Given the description of an element on the screen output the (x, y) to click on. 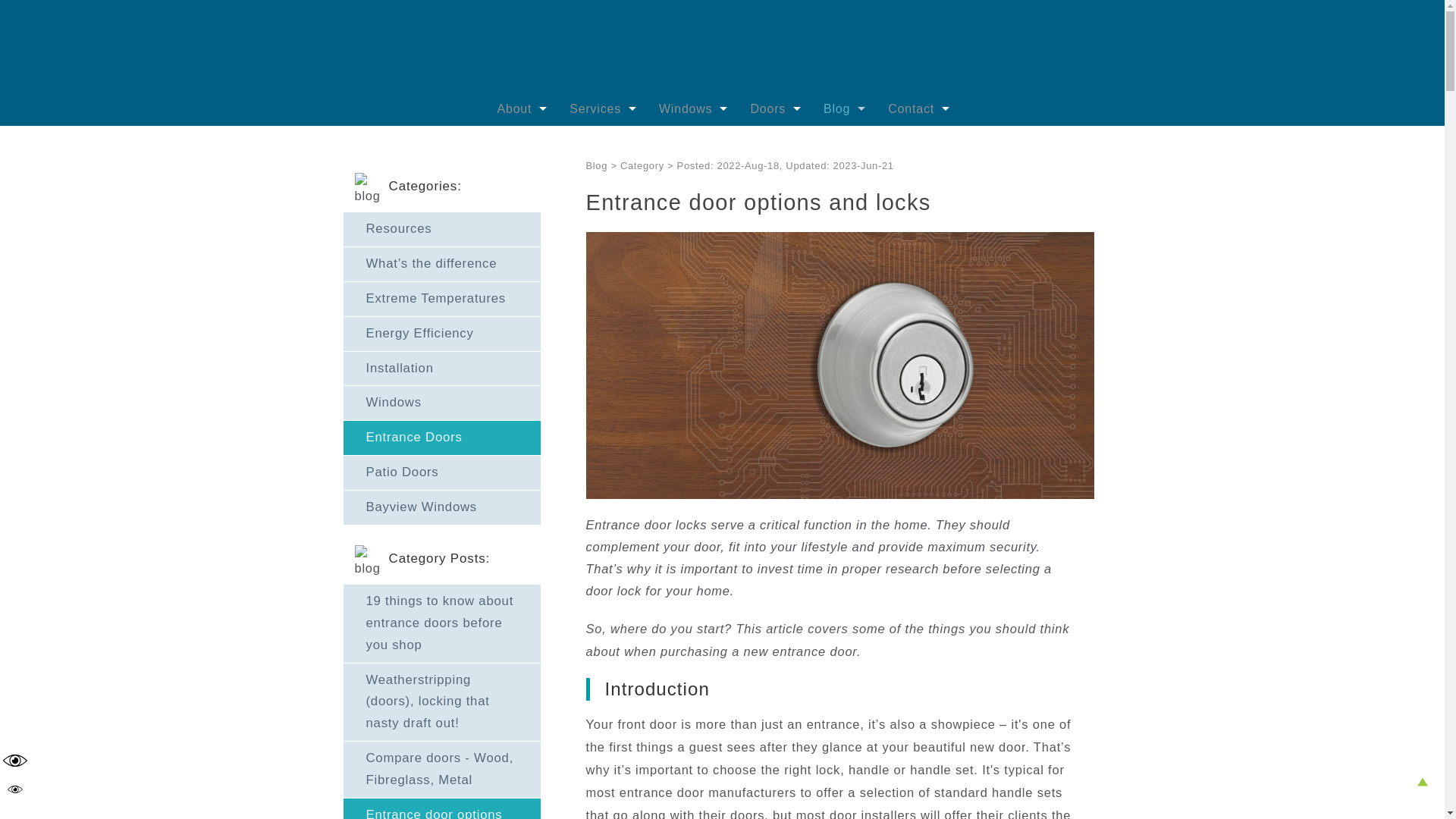
Services Element type: text (602, 108)
About Element type: text (521, 108)
Patio Doors Element type: text (440, 472)
Privacy Statement Element type: text (971, 178)
Bow Windows Element type: text (742, 422)
Patio Doors Element type: text (906, 352)
Financing Element type: text (652, 352)
Window & Door Repair Element type: text (652, 318)
Garden Door Installation Element type: text (652, 248)
Extreme Temperatures Element type: text (906, 213)
Windows Element type: text (906, 283)
Our Labour Warranty Element type: text (579, 178)
Doors Element type: text (775, 108)
Patio Doors Element type: text (833, 213)
Compare doors - Wood, Fibreglass, Metal Element type: text (440, 769)
About Bayview Windows Element type: text (579, 143)
Resources Element type: text (906, 143)
Weatherstripping (doors), locking that nasty draft out! Element type: text (440, 701)
Product Warranties Element type: text (579, 213)
Contact Element type: text (918, 108)
Shaped Windows Element type: text (742, 352)
Winter Installation Element type: text (652, 283)
Door Gallery Element type: text (833, 143)
Energy Efficiency Element type: text (906, 248)
Entrance Doors Element type: text (906, 318)
Entrance Door Installation Element type: text (652, 178)
Windows Installation Element type: text (652, 143)
Windows Gallery Element type: text (742, 143)
Bay Windows Element type: text (742, 387)
Slider Windows Element type: text (742, 318)
Windows Element type: text (692, 108)
Bayview Windows Element type: text (440, 507)
Entrance Doors Element type: text (440, 437)
Extreme Temperatures Element type: text (440, 299)
increase font size Element type: hover (14, 760)
Awning Windows Element type: text (742, 248)
decrease font size Element type: hover (14, 789)
Installation Element type: text (440, 368)
Resources Element type: text (440, 229)
FAQs Element type: text (579, 248)
Blog Element type: text (844, 108)
Energy Efficiency Element type: text (440, 333)
Installation Element type: text (906, 387)
Windows Element type: text (440, 402)
auto scroll to top of page Element type: hover (1422, 781)
Request a Quote Element type: text (971, 143)
Patio Door Installation Element type: text (652, 213)
Garden Doors Element type: text (833, 248)
Casement Windows Element type: text (742, 178)
Picture Windows Element type: text (742, 213)
19 things to know about entrance doors before you shop Element type: text (440, 623)
Entrance Doors Element type: text (833, 178)
Hung Windows Element type: text (742, 283)
Bayview Windows Element type: text (906, 422)
